Given the description of an element on the screen output the (x, y) to click on. 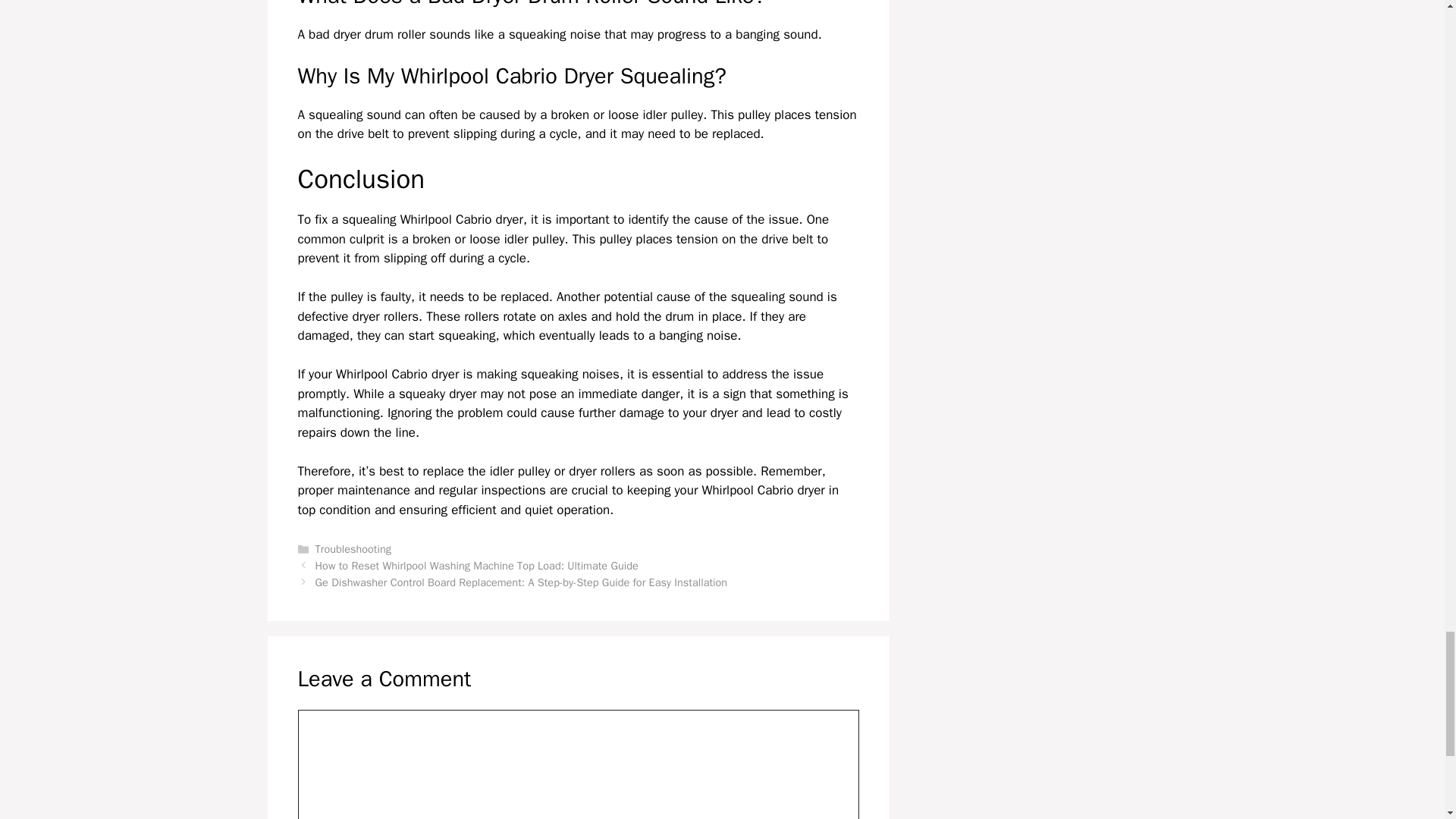
Troubleshooting (353, 549)
